Given the description of an element on the screen output the (x, y) to click on. 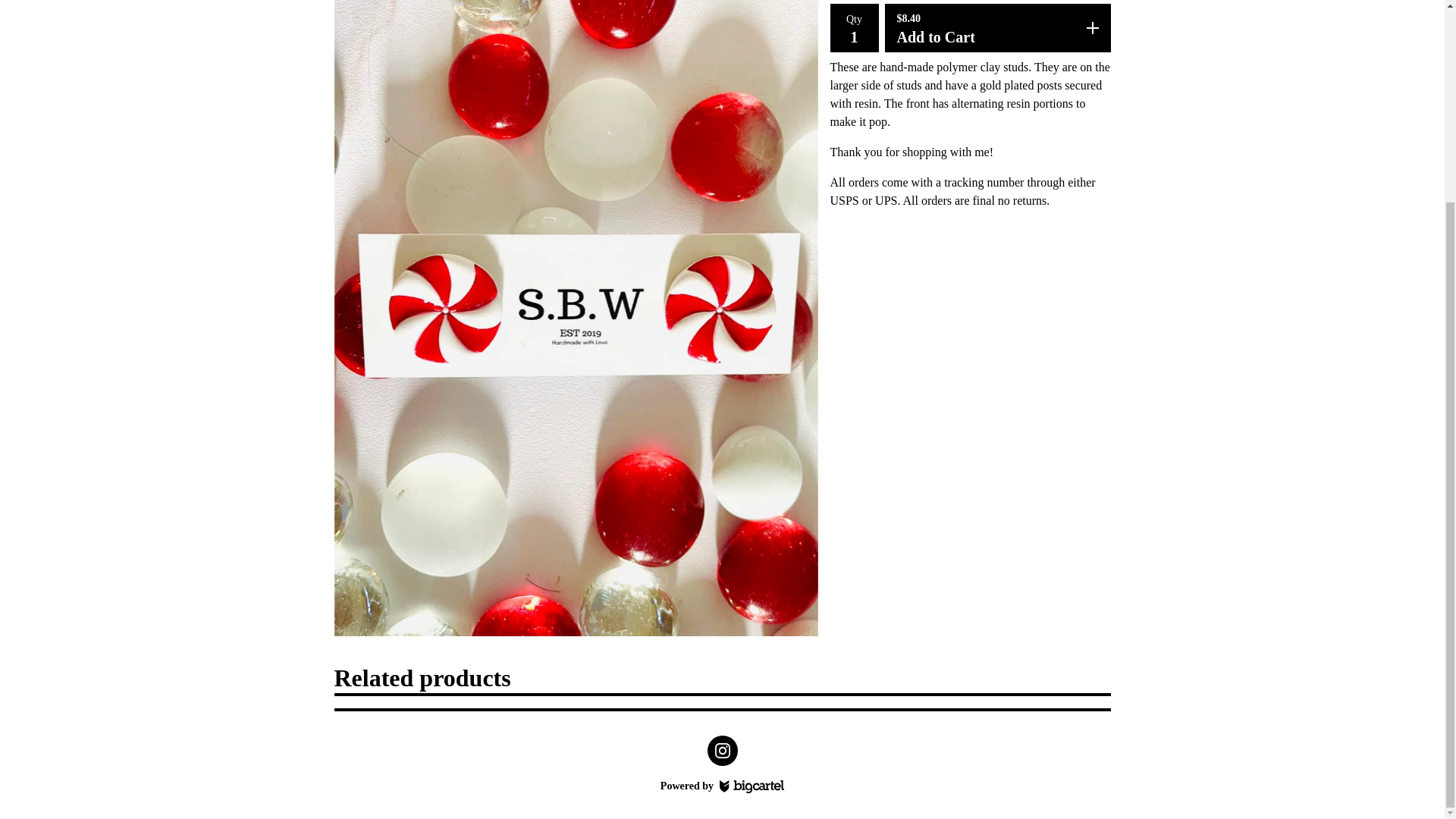
1 (853, 36)
